Given the description of an element on the screen output the (x, y) to click on. 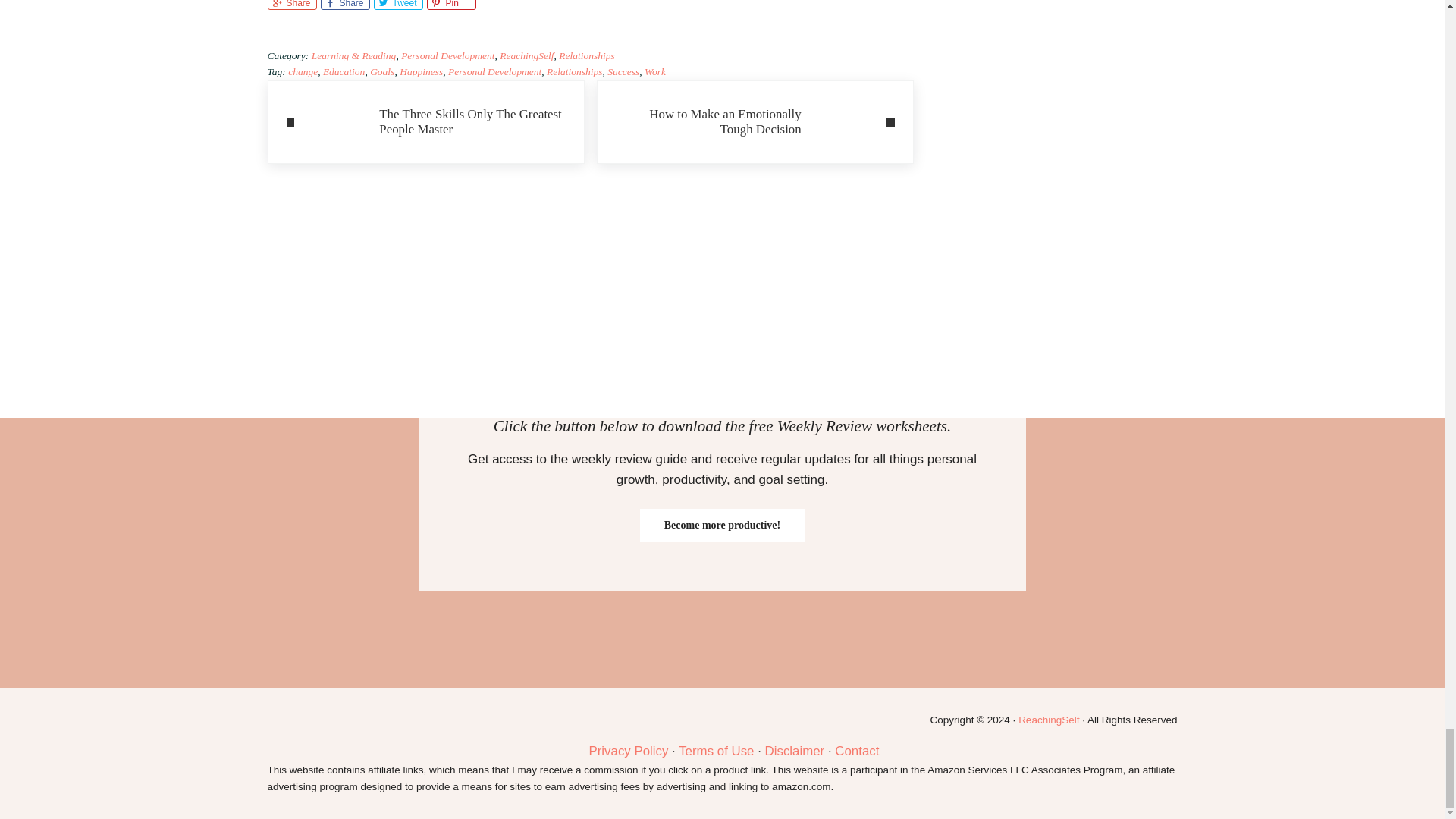
ReachingSelf (526, 55)
Tweet (397, 4)
Share (290, 4)
Personal Development (448, 55)
Share (344, 4)
Pin (451, 4)
